Given the description of an element on the screen output the (x, y) to click on. 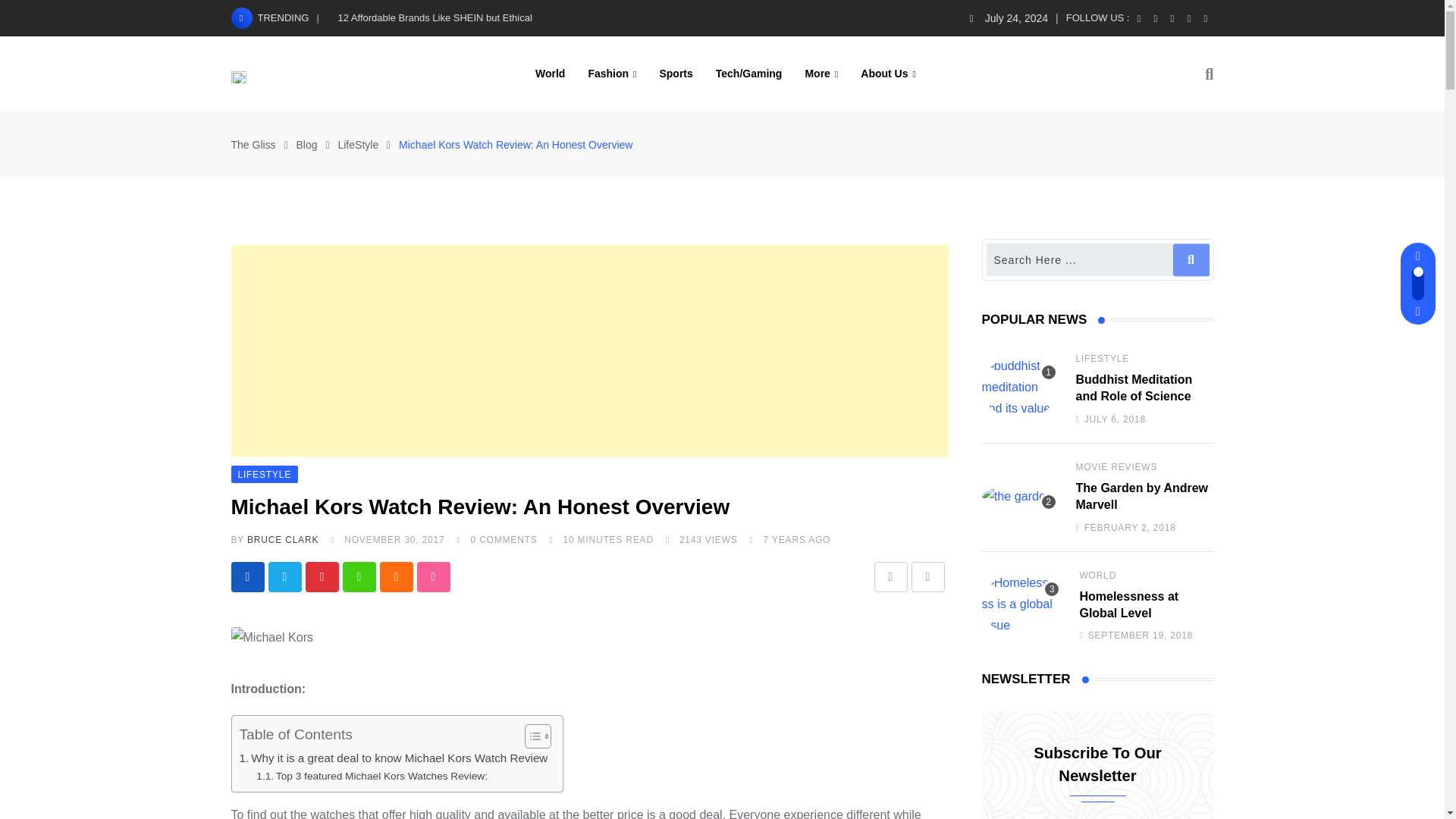
Go to the LifeStyle Category archives. (357, 144)
12 Affordable Brands Like SHEIN but Ethical (434, 17)
Why it is a great deal to know Michael Kors Watch Review (394, 758)
Posts by Bruce Clark (282, 539)
Go to The Gliss. (252, 144)
Top 3 featured Michael Kors Watches Review: (371, 776)
Go to Blog. (307, 144)
Fashion (611, 73)
About Us (887, 73)
